Given the description of an element on the screen output the (x, y) to click on. 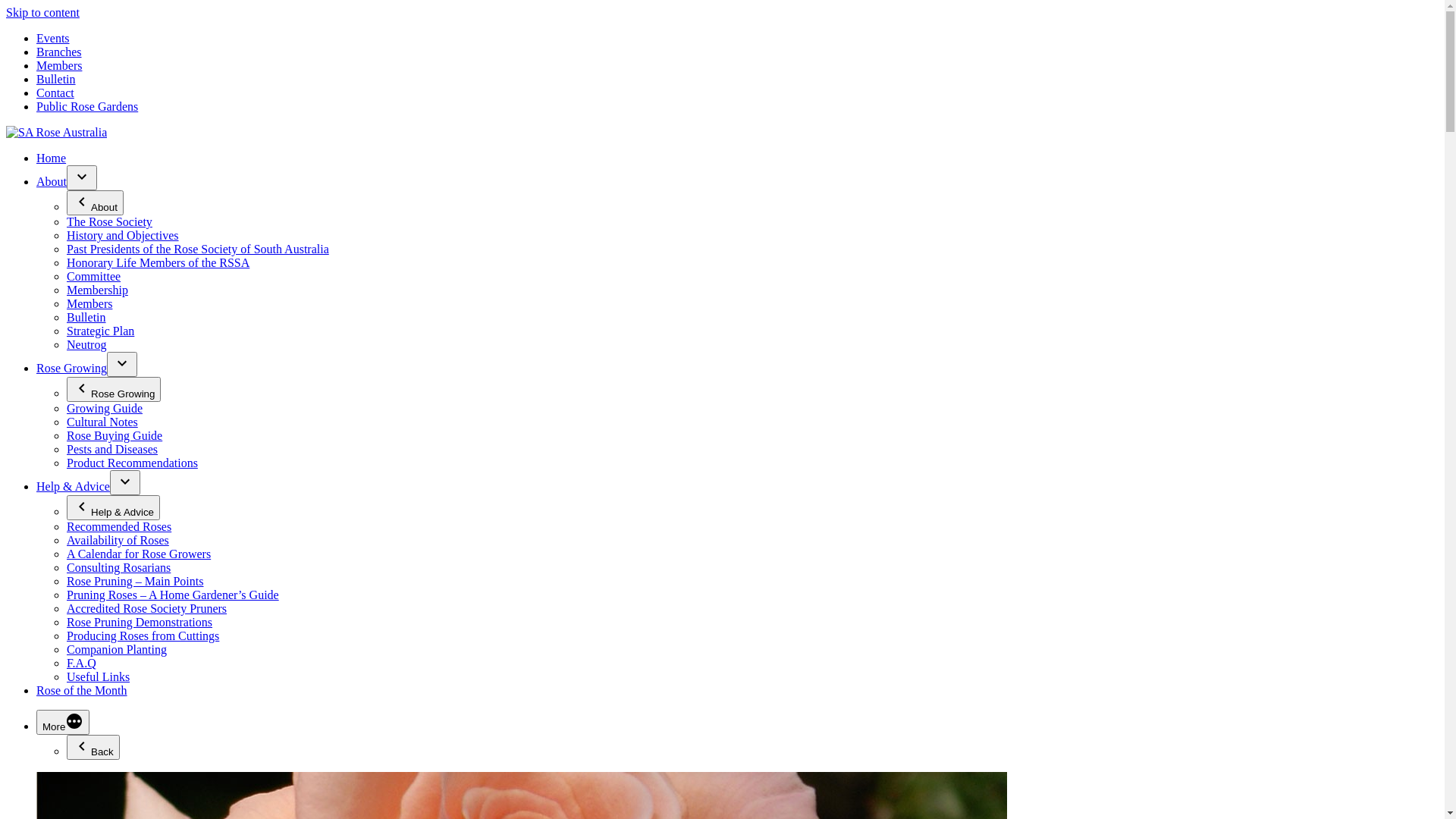
Growing Guide Element type: text (104, 407)
Events Element type: text (52, 37)
Back Element type: text (92, 746)
Recommended Roses Element type: text (118, 526)
Cultural Notes Element type: text (102, 421)
Help & Advice Element type: text (113, 507)
Members Element type: text (89, 303)
Rose Growing Element type: text (113, 388)
Consulting Rosarians Element type: text (118, 567)
Strategic Plan Element type: text (100, 330)
More Element type: text (62, 721)
Membership Element type: text (97, 289)
A Calendar for Rose Growers Element type: text (138, 553)
Pests and Diseases Element type: text (111, 448)
Rose of the Month Element type: text (81, 690)
Neutrog Element type: text (86, 344)
Useful Links Element type: text (97, 676)
Members Element type: text (58, 65)
The Rose Society Element type: text (109, 221)
Home Element type: text (50, 157)
About Element type: text (51, 181)
Help & Advice Element type: text (72, 486)
F.A.Q Element type: text (81, 662)
Honorary Life Members of the RSSA Element type: text (157, 262)
Branches Element type: text (58, 51)
History and Objectives Element type: text (122, 235)
Accredited Rose Society Pruners Element type: text (146, 608)
Rose Buying Guide Element type: text (114, 435)
Product Recommendations Element type: text (131, 462)
Past Presidents of the Rose Society of South Australia Element type: text (197, 248)
About Element type: text (94, 202)
Rose Pruning Demonstrations Element type: text (139, 621)
Committee Element type: text (93, 275)
Public Rose Gardens Element type: text (87, 106)
Bulletin Element type: text (86, 316)
Contact Element type: text (55, 92)
Bulletin Element type: text (55, 78)
Rose Growing Element type: text (71, 367)
Companion Planting Element type: text (116, 649)
Skip to content Element type: text (42, 12)
Availability of Roses Element type: text (117, 539)
Producing Roses from Cuttings Element type: text (142, 635)
